Given the description of an element on the screen output the (x, y) to click on. 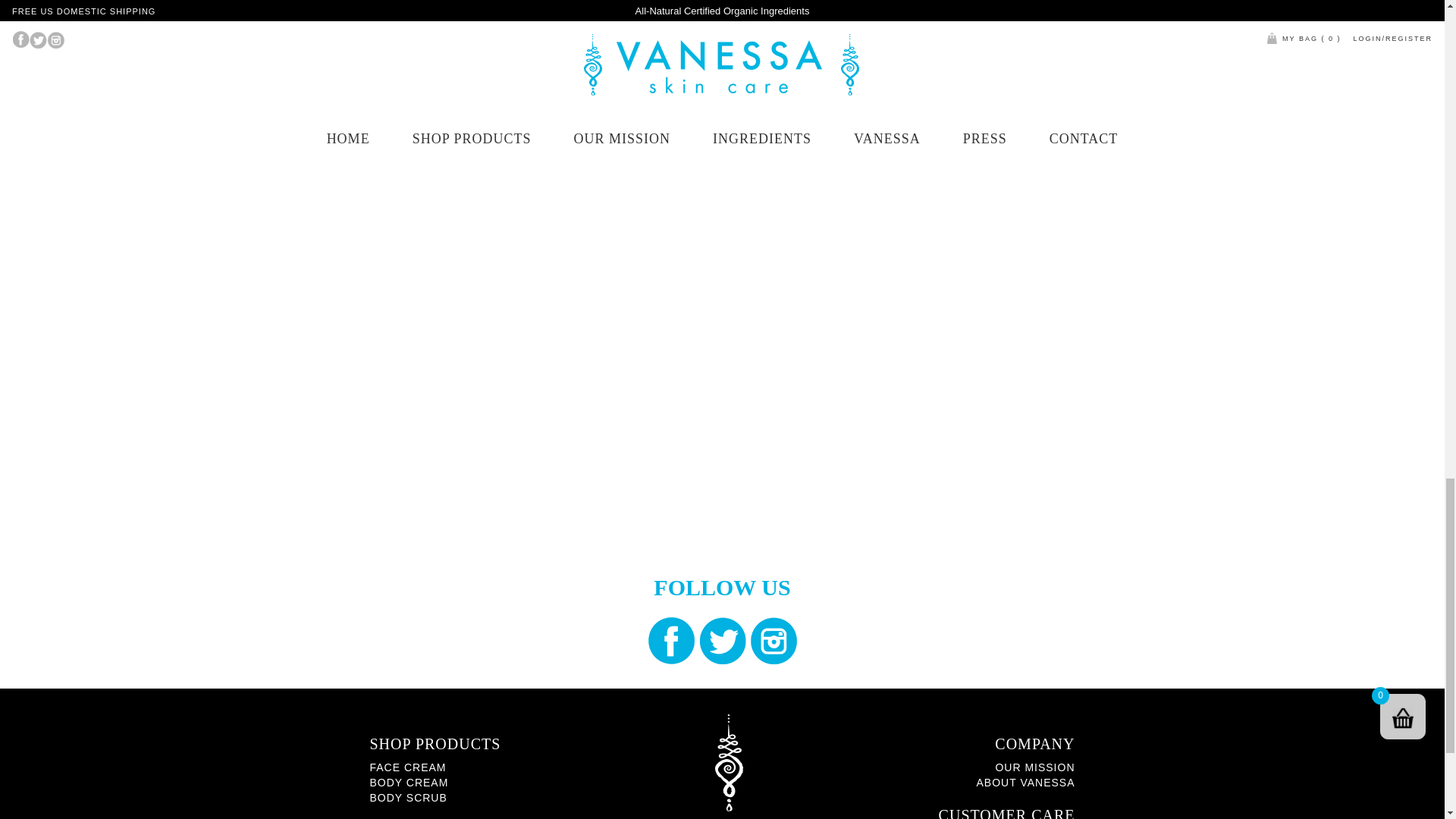
ADD TO CART (479, 88)
ADD TO CART (721, 88)
BODY CREAM (408, 782)
FACE CREAM (407, 767)
